Given the description of an element on the screen output the (x, y) to click on. 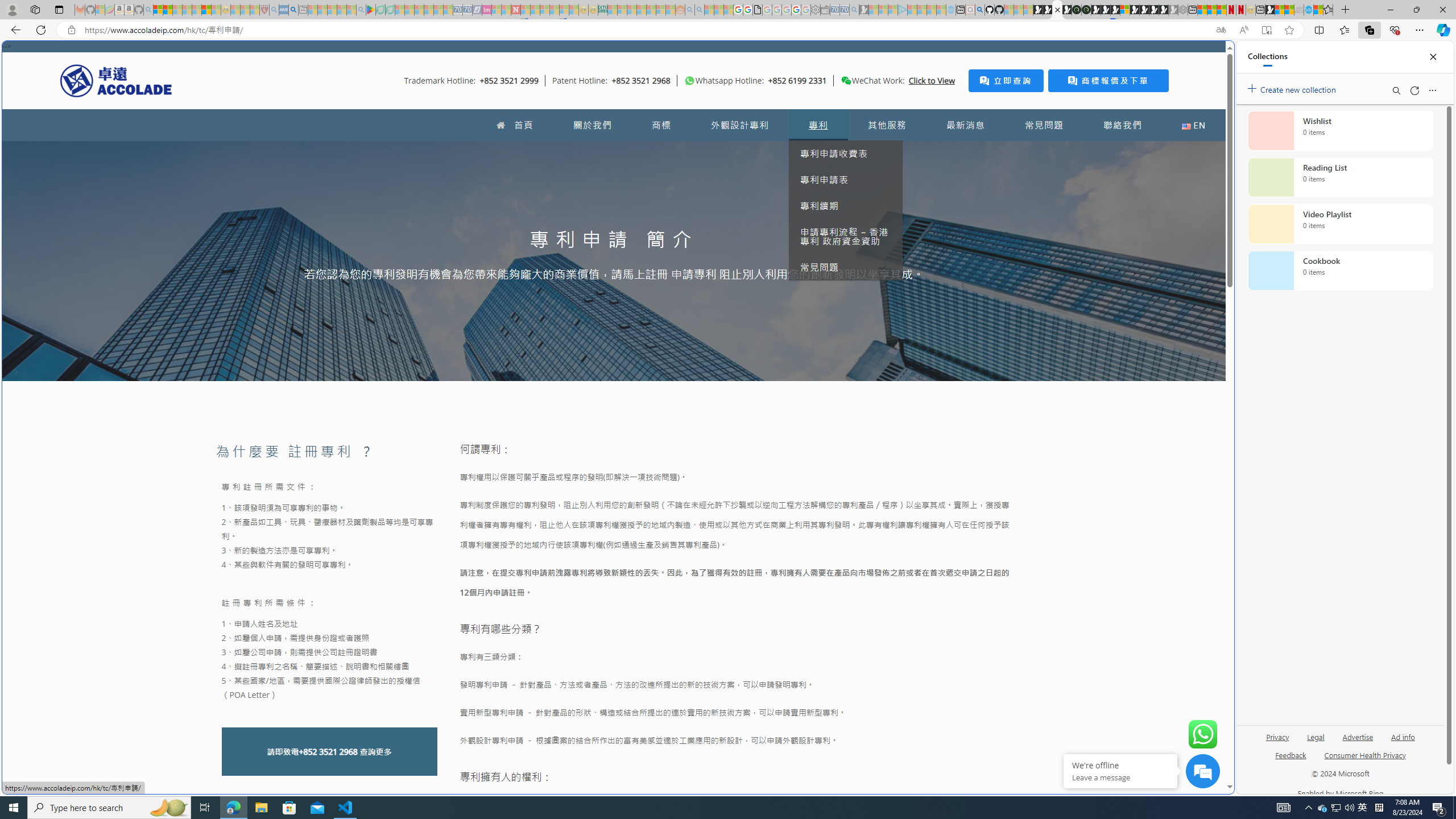
Cookbook collection, 0 items (1339, 270)
